Given the description of an element on the screen output the (x, y) to click on. 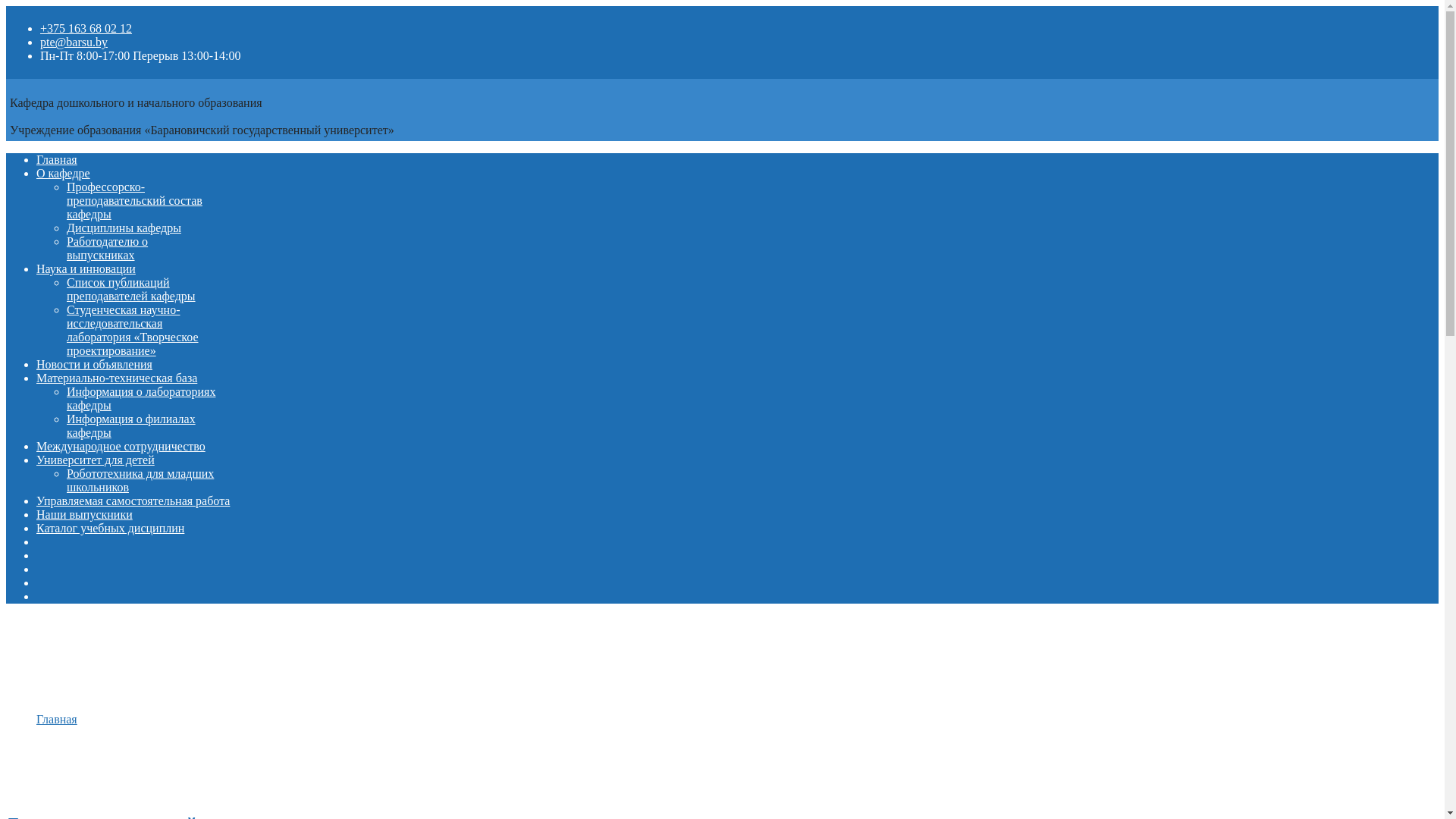
pte@barsu.by Element type: text (73, 41)
+375 163 68 02 12 Element type: text (85, 27)
